Given the description of an element on the screen output the (x, y) to click on. 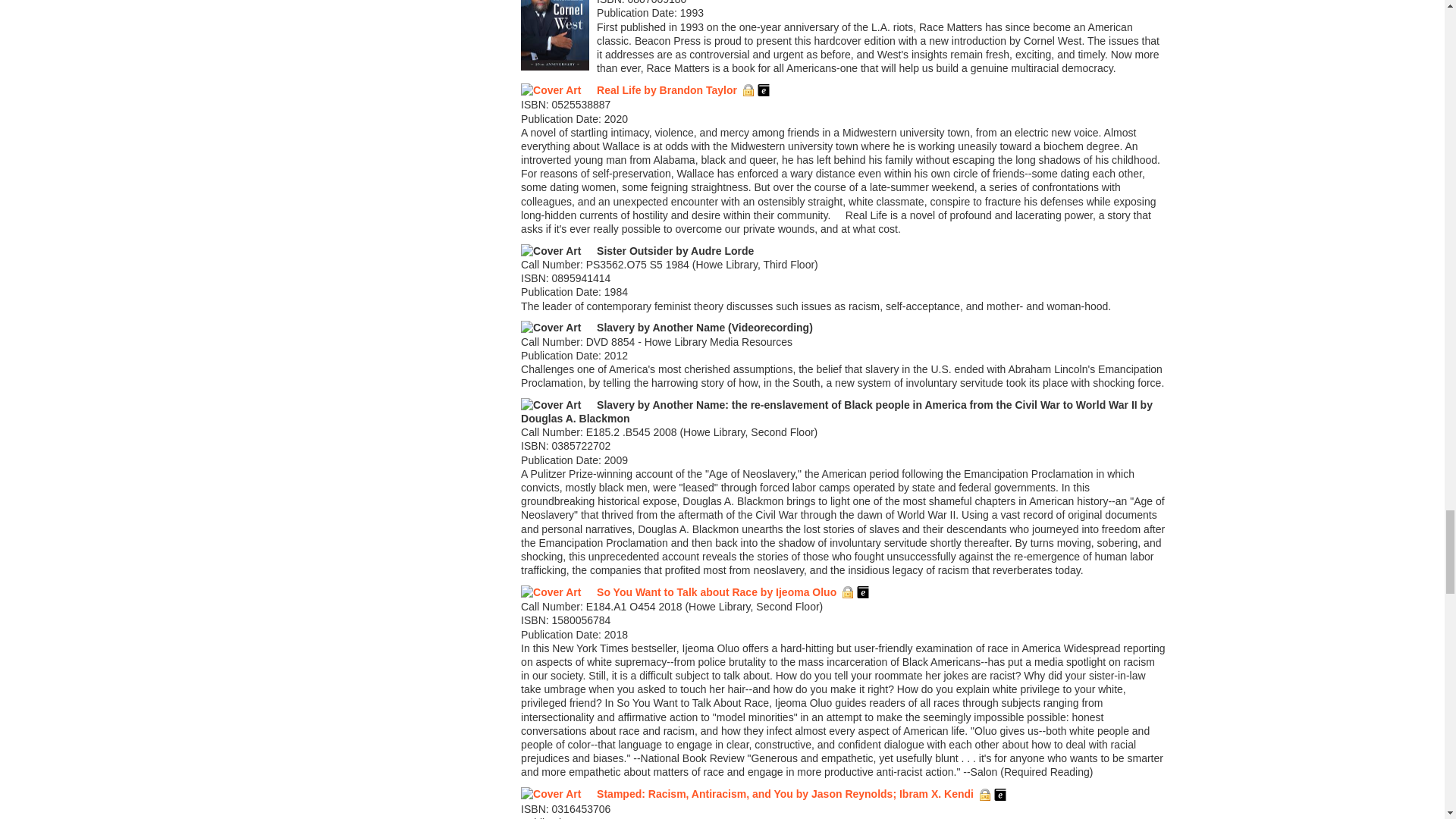
Real Life by Brandon Taylor (666, 90)
So You Want to Talk about Race by Ijeoma Oluo (715, 592)
